Given the description of an element on the screen output the (x, y) to click on. 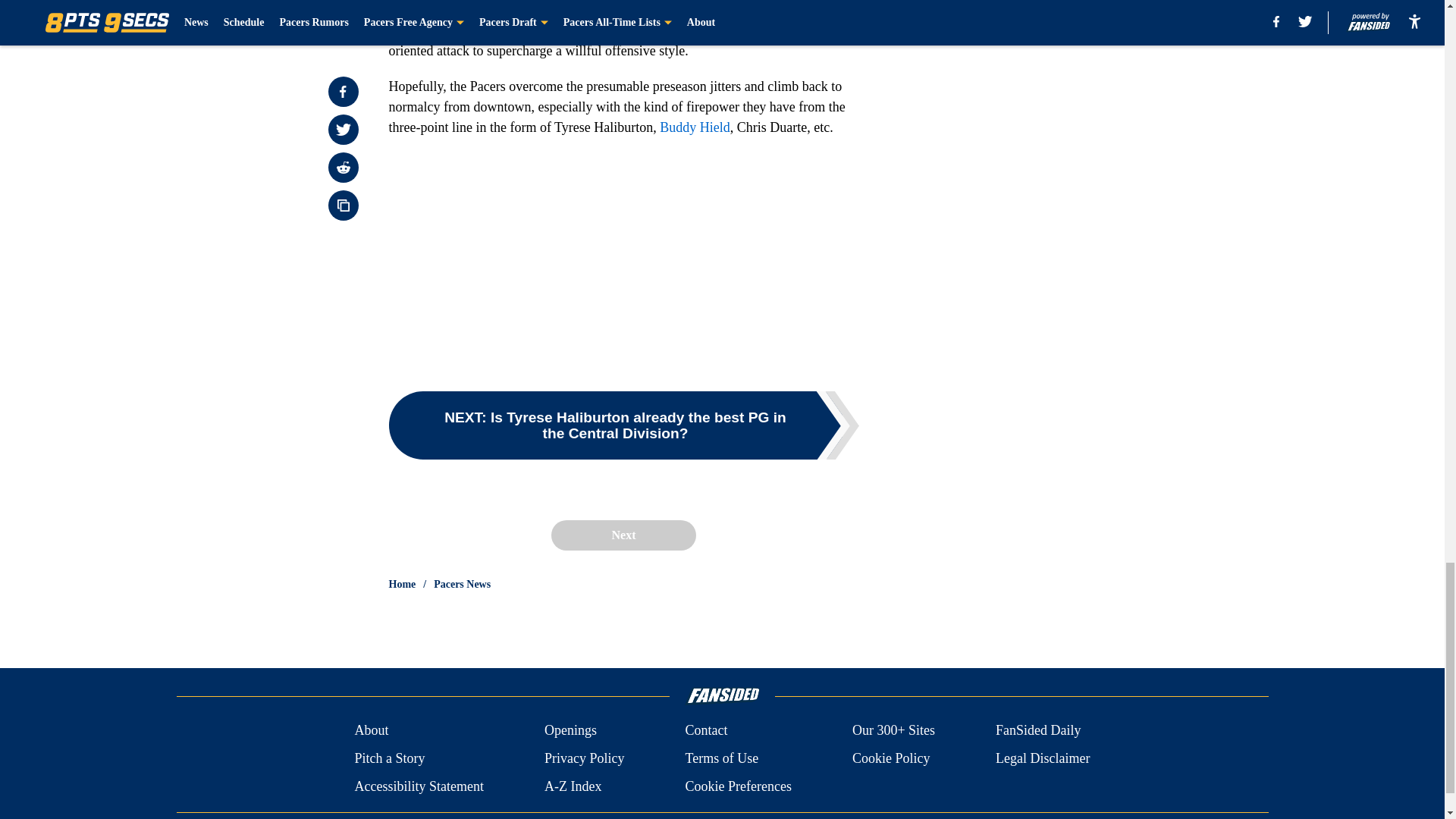
Home (401, 584)
Buddy Hield (694, 127)
About (370, 730)
Contact (705, 730)
Openings (570, 730)
Next (622, 535)
Pacers News (461, 584)
